Given the description of an element on the screen output the (x, y) to click on. 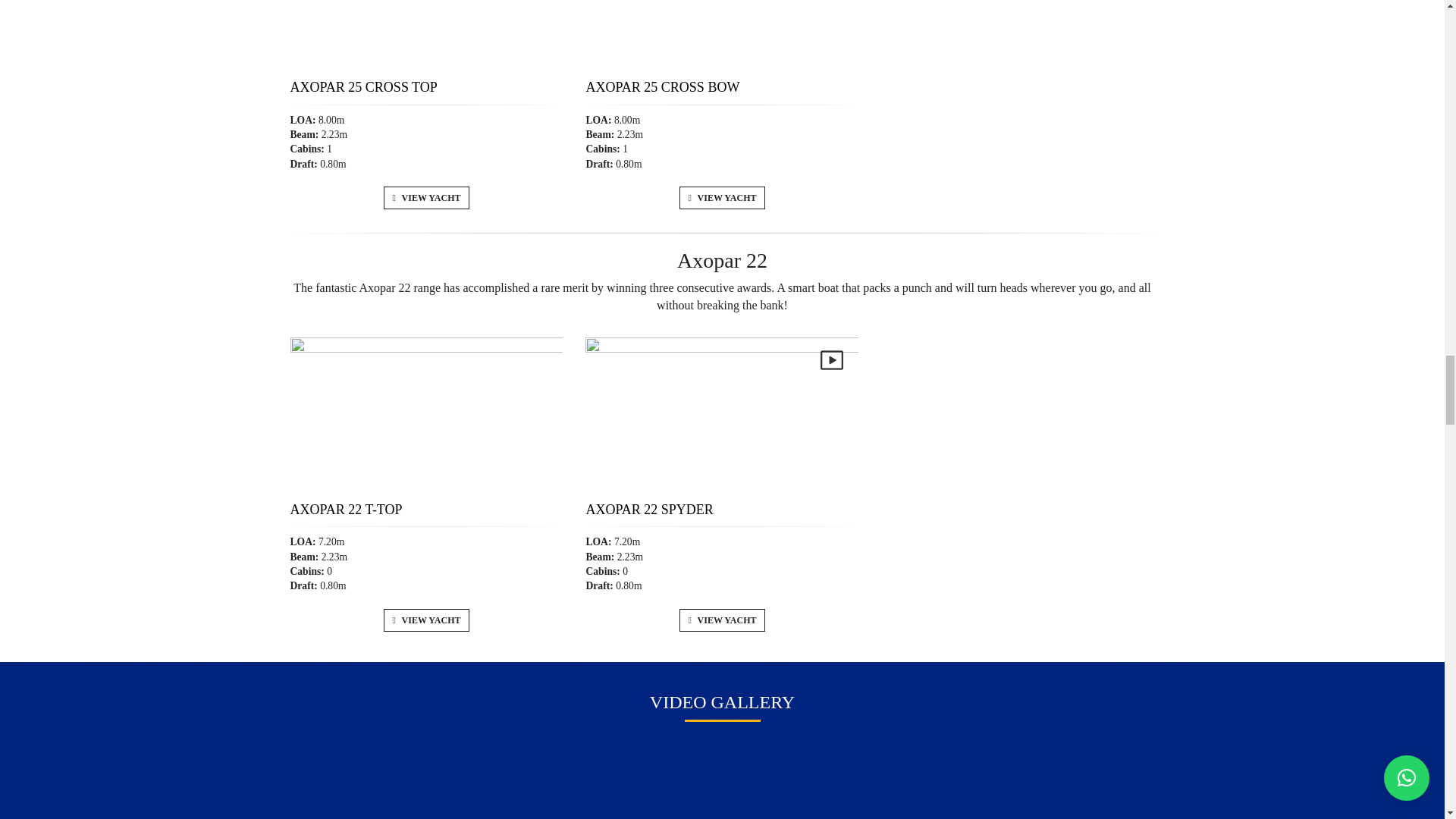
Watch Video (832, 359)
